Given the description of an element on the screen output the (x, y) to click on. 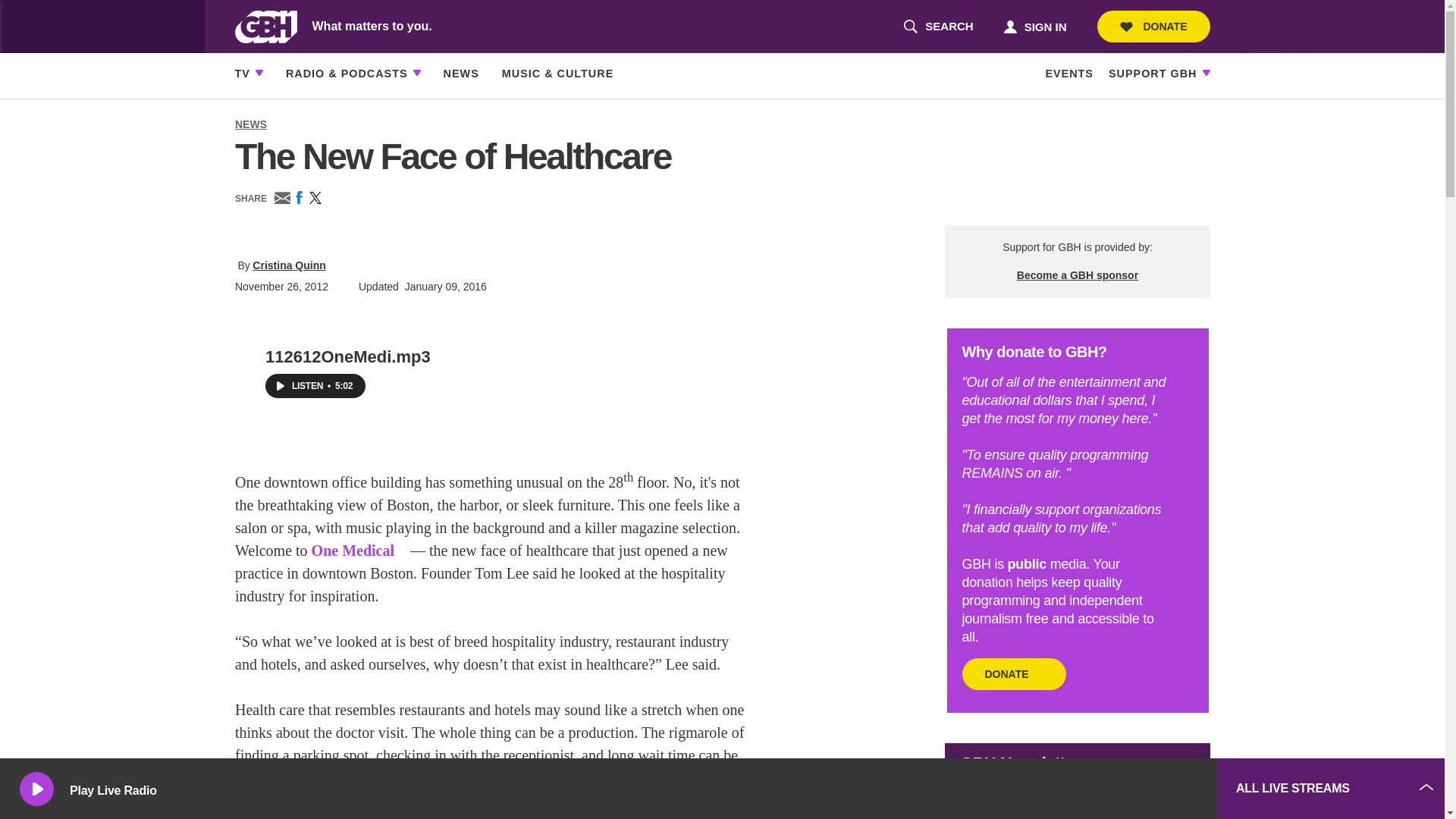
SIGN IN (937, 26)
DONATE (1034, 25)
